Given the description of an element on the screen output the (x, y) to click on. 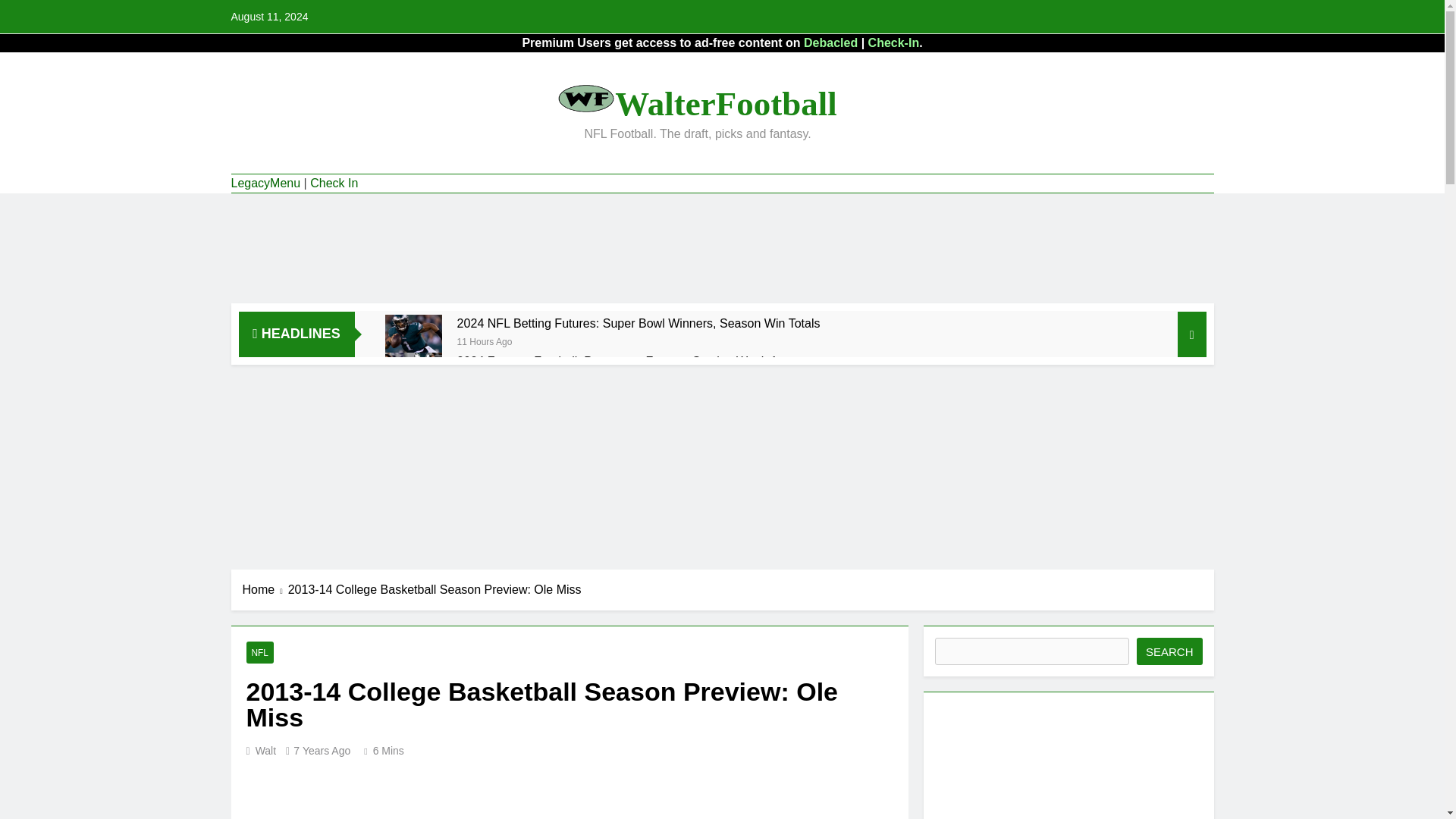
Check-In (893, 42)
Check In (334, 183)
Debacled (830, 42)
WalterFootball (724, 103)
LegacyMenu (264, 183)
